Given the description of an element on the screen output the (x, y) to click on. 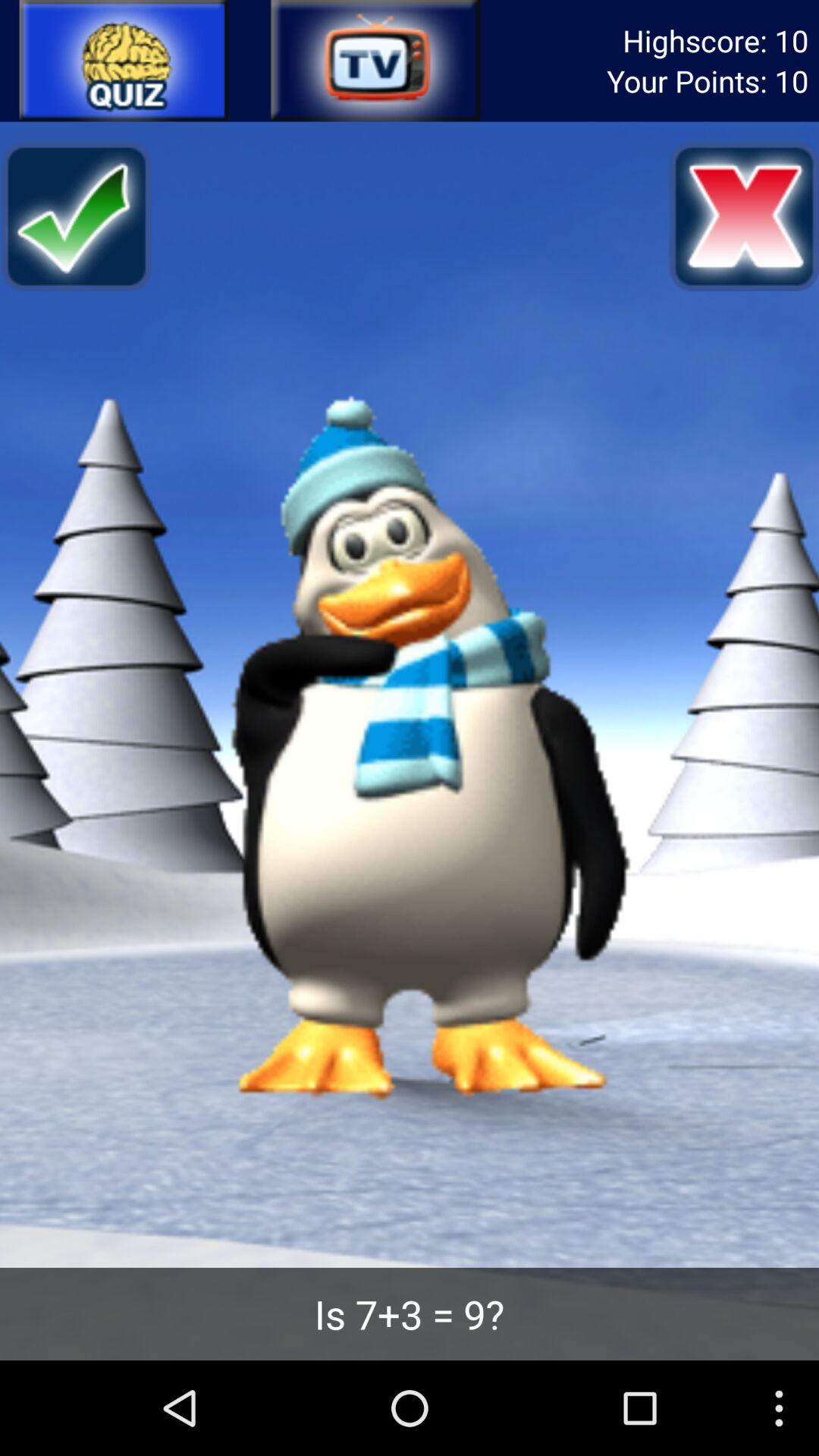
tv (373, 60)
